Given the description of an element on the screen output the (x, y) to click on. 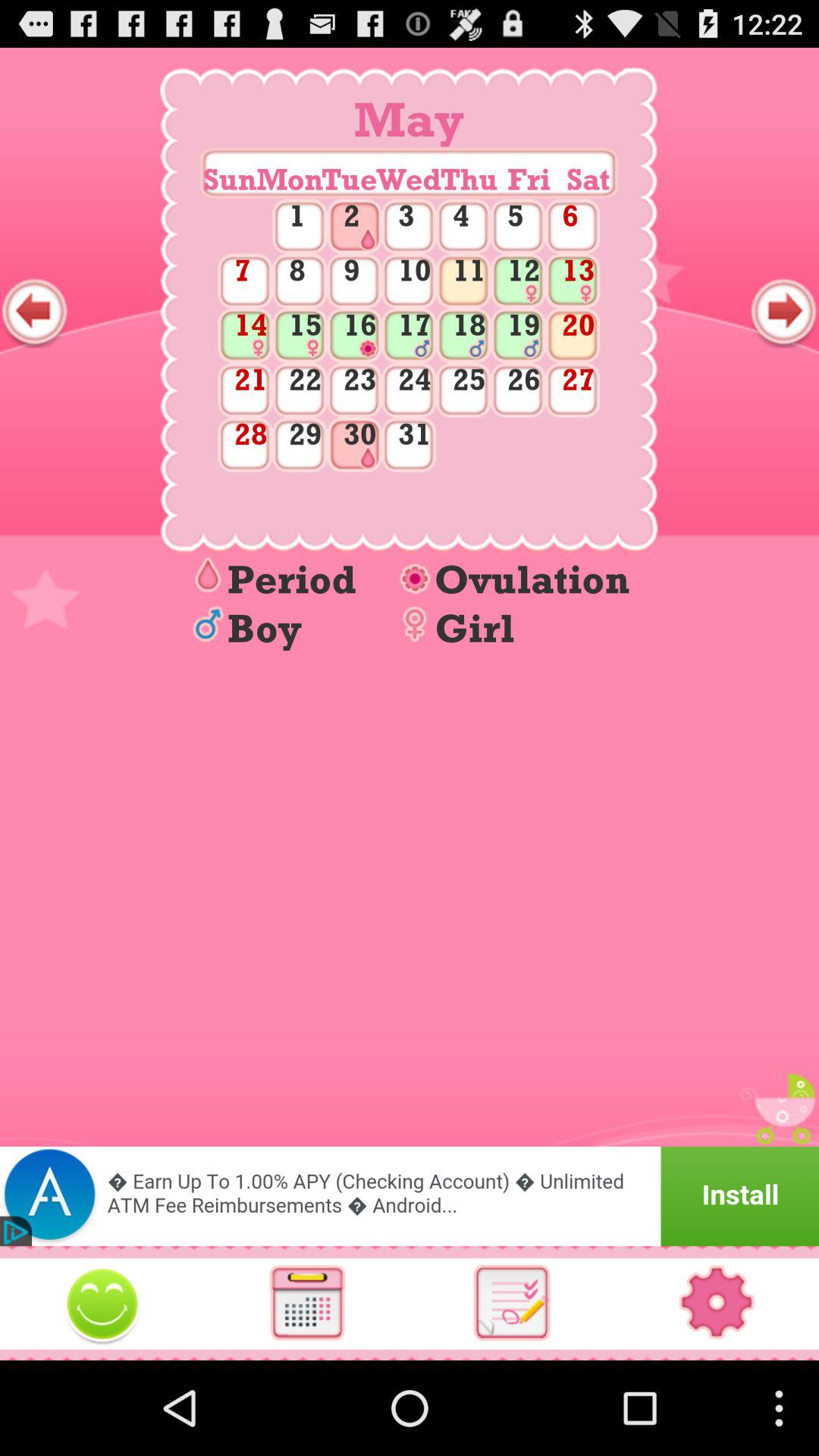
show next month (784, 311)
